Given the description of an element on the screen output the (x, y) to click on. 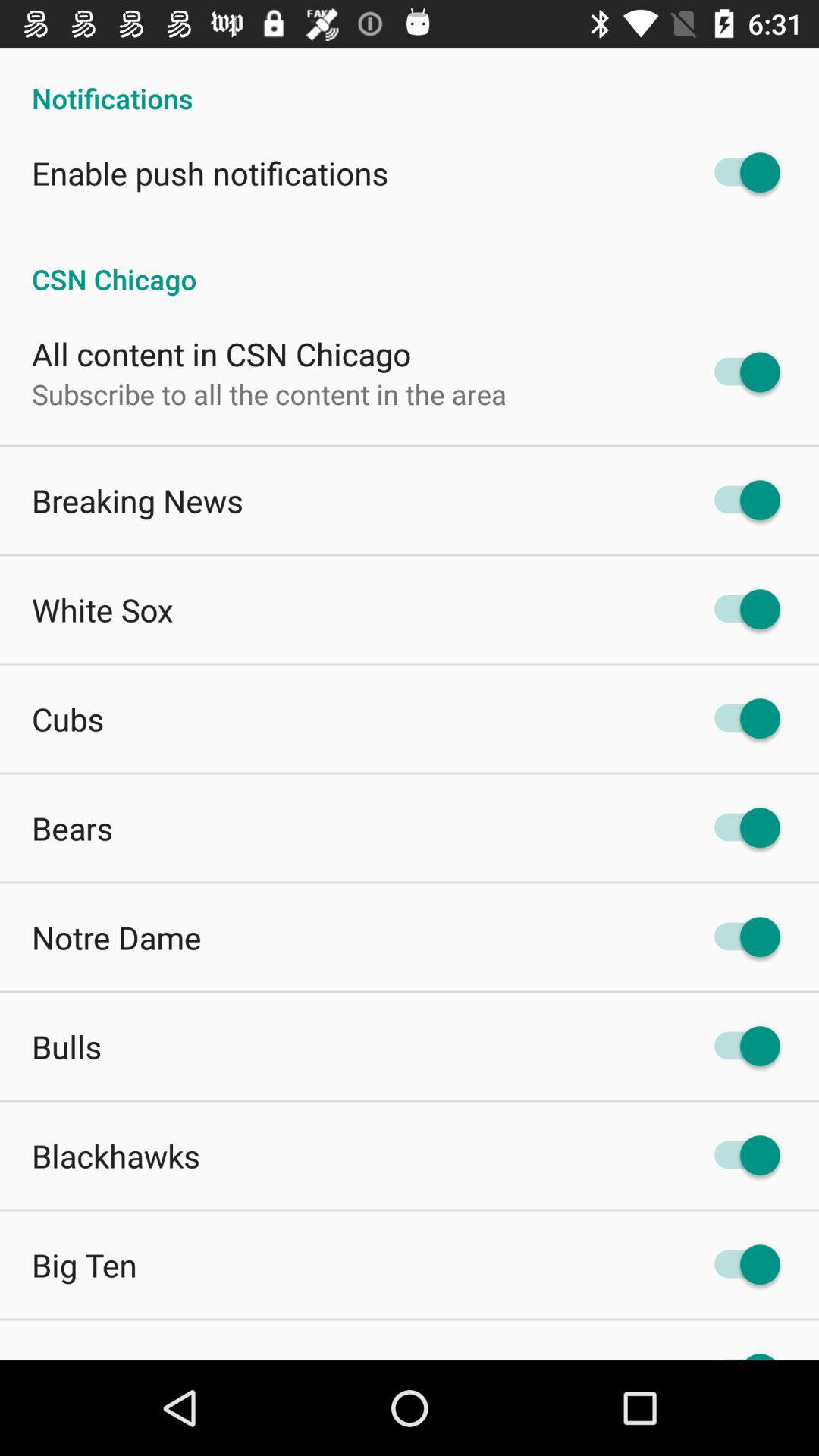
choose big ten app (84, 1264)
